Given the description of an element on the screen output the (x, y) to click on. 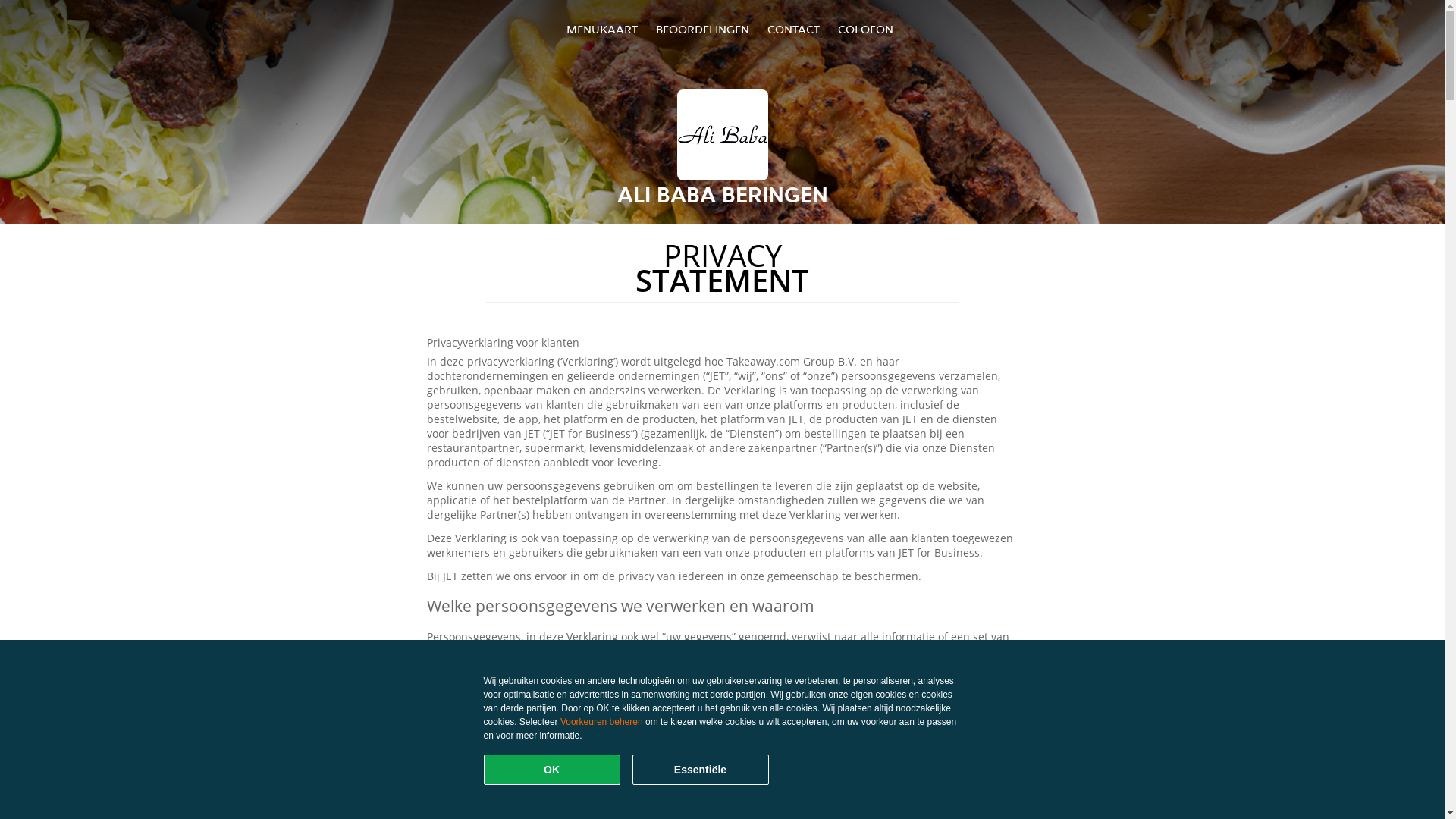
BEOORDELINGEN Element type: text (702, 29)
COLOFON Element type: text (865, 29)
Voorkeuren beheren Element type: text (601, 721)
MENUKAART Element type: text (601, 29)
CONTACT Element type: text (793, 29)
OK Element type: text (551, 769)
